Given the description of an element on the screen output the (x, y) to click on. 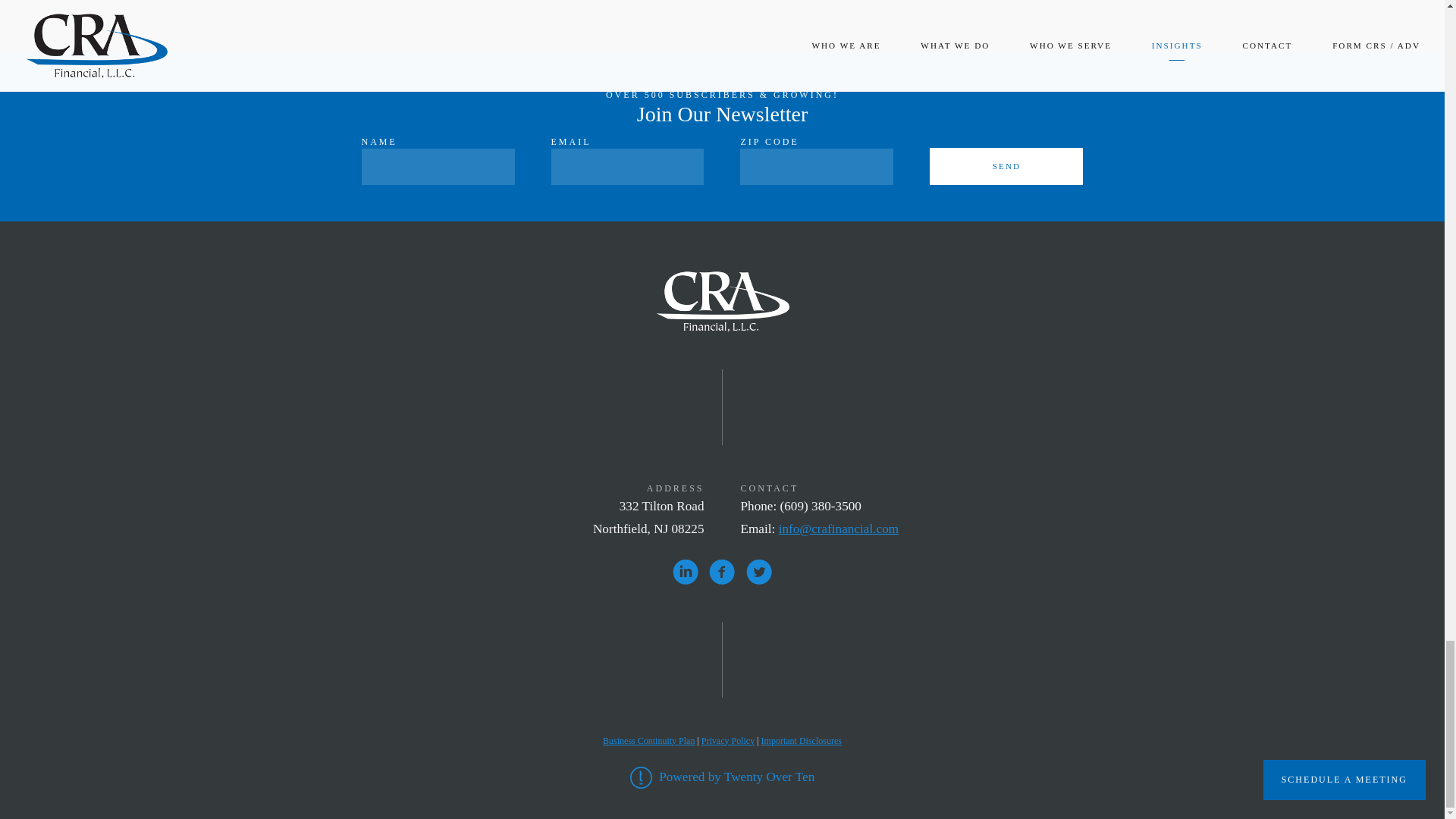
SEND (1006, 166)
Privacy Policy (727, 740)
Important Disclosures (801, 740)
Business Continuity Plan (648, 740)
